Given the description of an element on the screen output the (x, y) to click on. 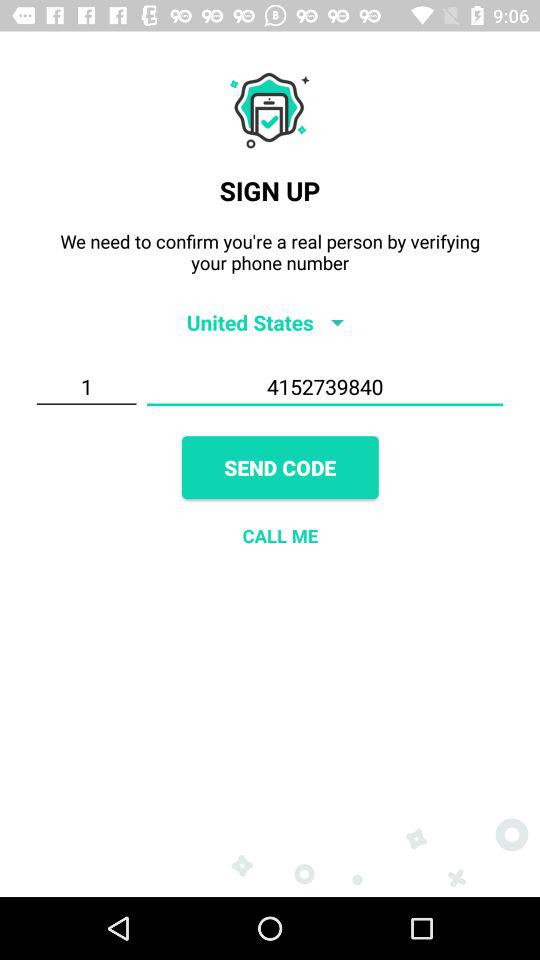
turn off send code item (279, 467)
